Given the description of an element on the screen output the (x, y) to click on. 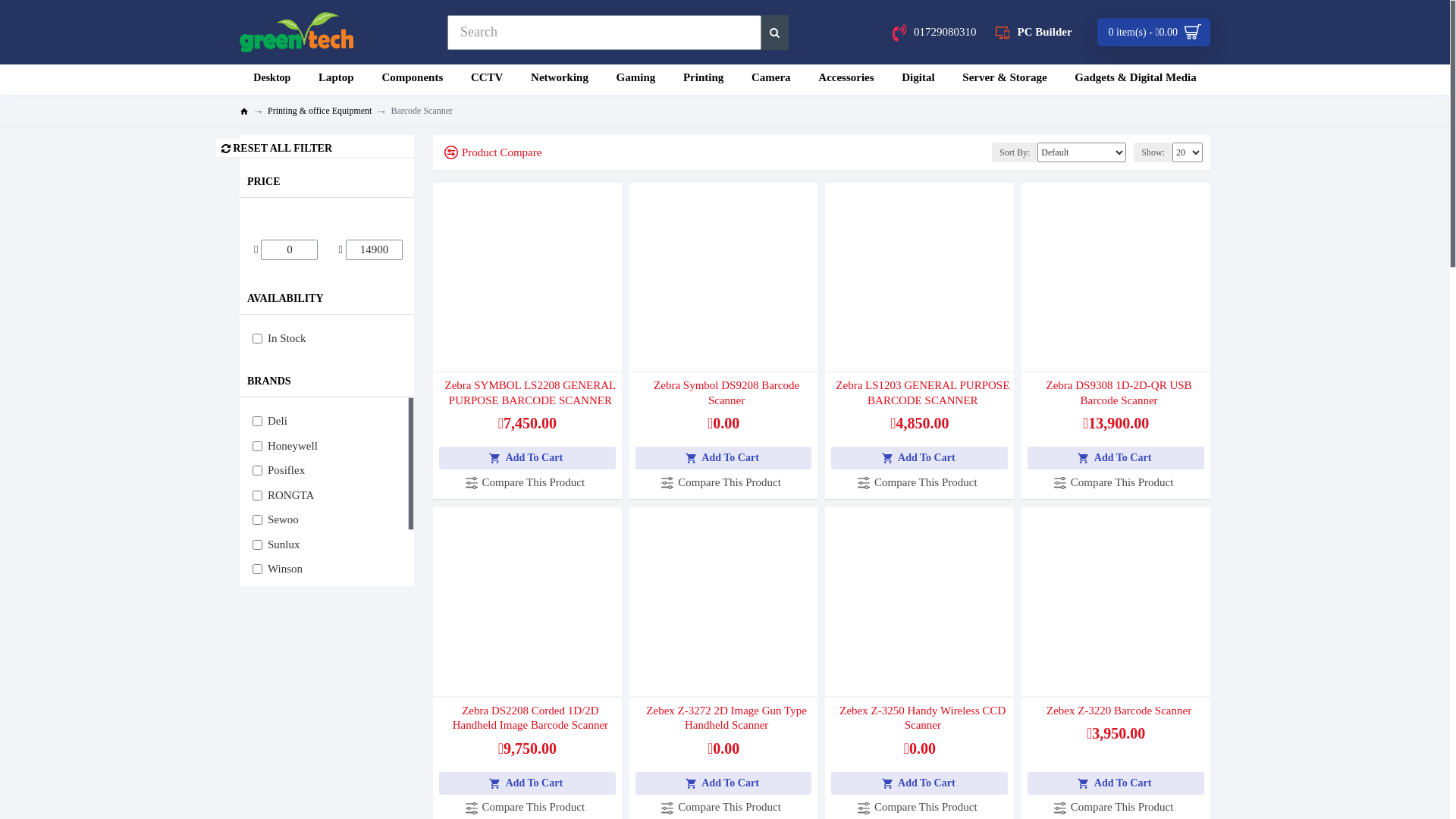
Compare This Product Element type: text (723, 482)
Add To Cart Element type: text (723, 457)
BRANDS Element type: text (326, 380)
PRICE Element type: text (326, 181)
Add To Cart Element type: text (919, 457)
Printing & office Equipment Element type: text (319, 110)
Compare This Product Element type: text (919, 482)
Zebra DS2208 Corded 1D/2D Handheld Image Barcode Scanner Element type: text (530, 718)
Zebex Z-3220 Barcode Scanner Element type: text (1118, 710)
Components Element type: text (412, 79)
Zebra LS1203 GENERAL PURPOSE BARCODE SCANNER Element type: text (922, 392)
Product Compare Element type: text (487, 152)
PC Builder Element type: text (1033, 32)
CCTV Element type: text (487, 79)
01729080310 Element type: text (934, 32)
Zebra SYMBOL LS2208 GENERAL PURPOSE BARCODE SCANNER Element type: text (530, 392)
Accessories Element type: text (846, 79)
Digital Element type: text (918, 79)
Zebex Z-3250 Handy Wireless CCD Scanner Element type: text (922, 718)
Barcode Scanner Element type: text (421, 110)
Zebex Z-3272 2D Image Gun Type Handheld Scanner Element type: text (726, 718)
Add To Cart Element type: text (527, 782)
Add To Cart Element type: text (527, 457)
Add To Cart Element type: text (1115, 457)
Add To Cart Element type: text (723, 782)
Networking Element type: text (559, 79)
Gadgets & Digital Media Element type: text (1135, 79)
Gaming Element type: text (635, 79)
Laptop Element type: text (335, 79)
GreenTech System Limited Element type: hover (296, 31)
Server & Storage Element type: text (1004, 79)
Printing Element type: text (703, 79)
AVAILABILITY Element type: text (326, 297)
Camera Element type: text (770, 79)
Compare This Product Element type: text (527, 482)
Zebra Symbol DS9208 Barcode Scanner Element type: text (726, 392)
Add To Cart Element type: text (919, 782)
Add To Cart Element type: text (1115, 782)
Compare This Product Element type: text (1115, 482)
RESET ALL FILTER Element type: text (315, 147)
Desktop Element type: text (271, 79)
Zebra DS9308 1D-2D-QR USB Barcode Scanner Element type: text (1118, 392)
